Given the description of an element on the screen output the (x, y) to click on. 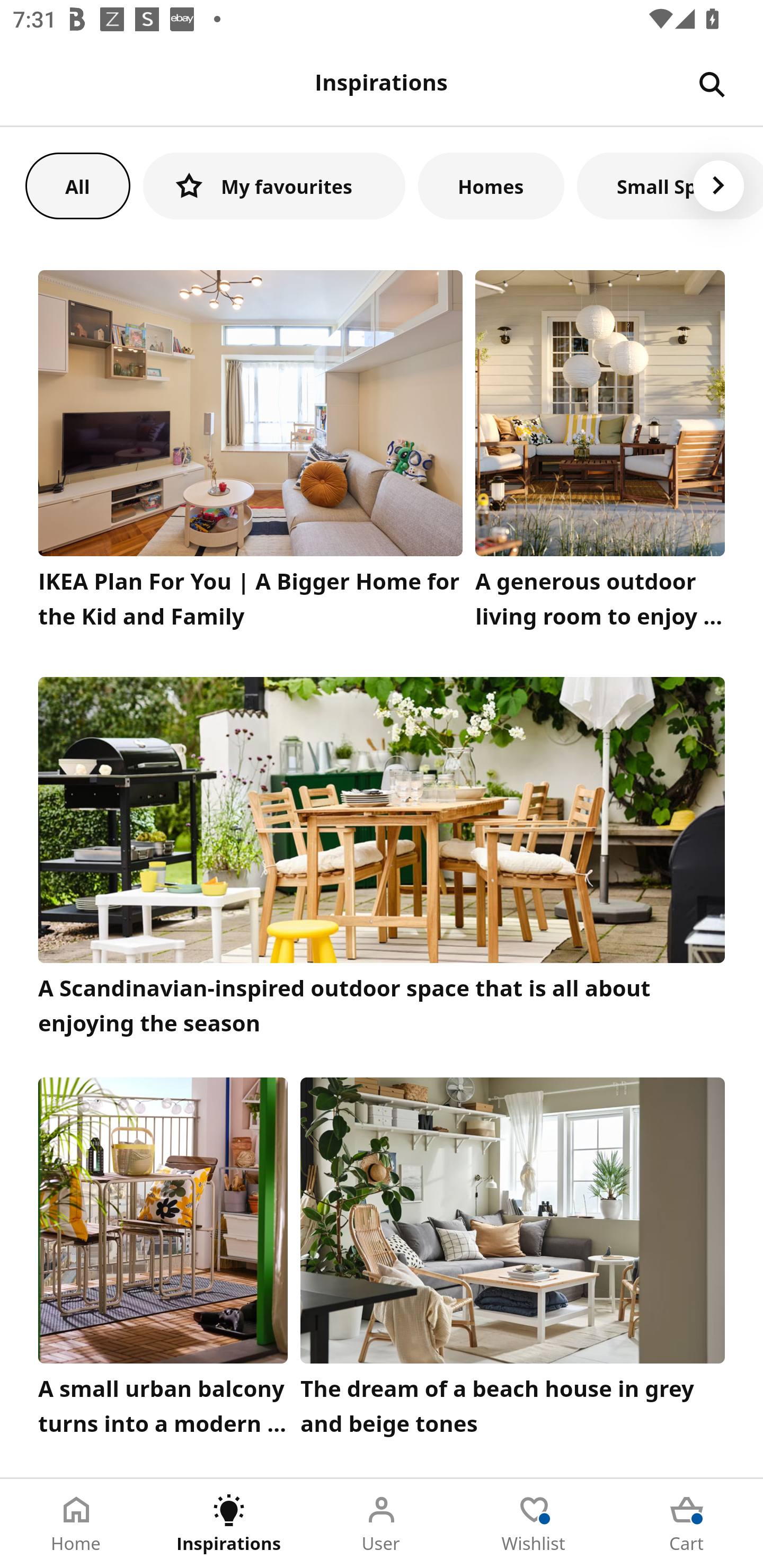
All (77, 185)
My favourites (274, 185)
Homes (491, 185)
Small Space (669, 185)
The dream of a beach house in grey and beige tones (512, 1261)
Home
Tab 1 of 5 (76, 1522)
Inspirations
Tab 2 of 5 (228, 1522)
User
Tab 3 of 5 (381, 1522)
Wishlist
Tab 4 of 5 (533, 1522)
Cart
Tab 5 of 5 (686, 1522)
